Given the description of an element on the screen output the (x, y) to click on. 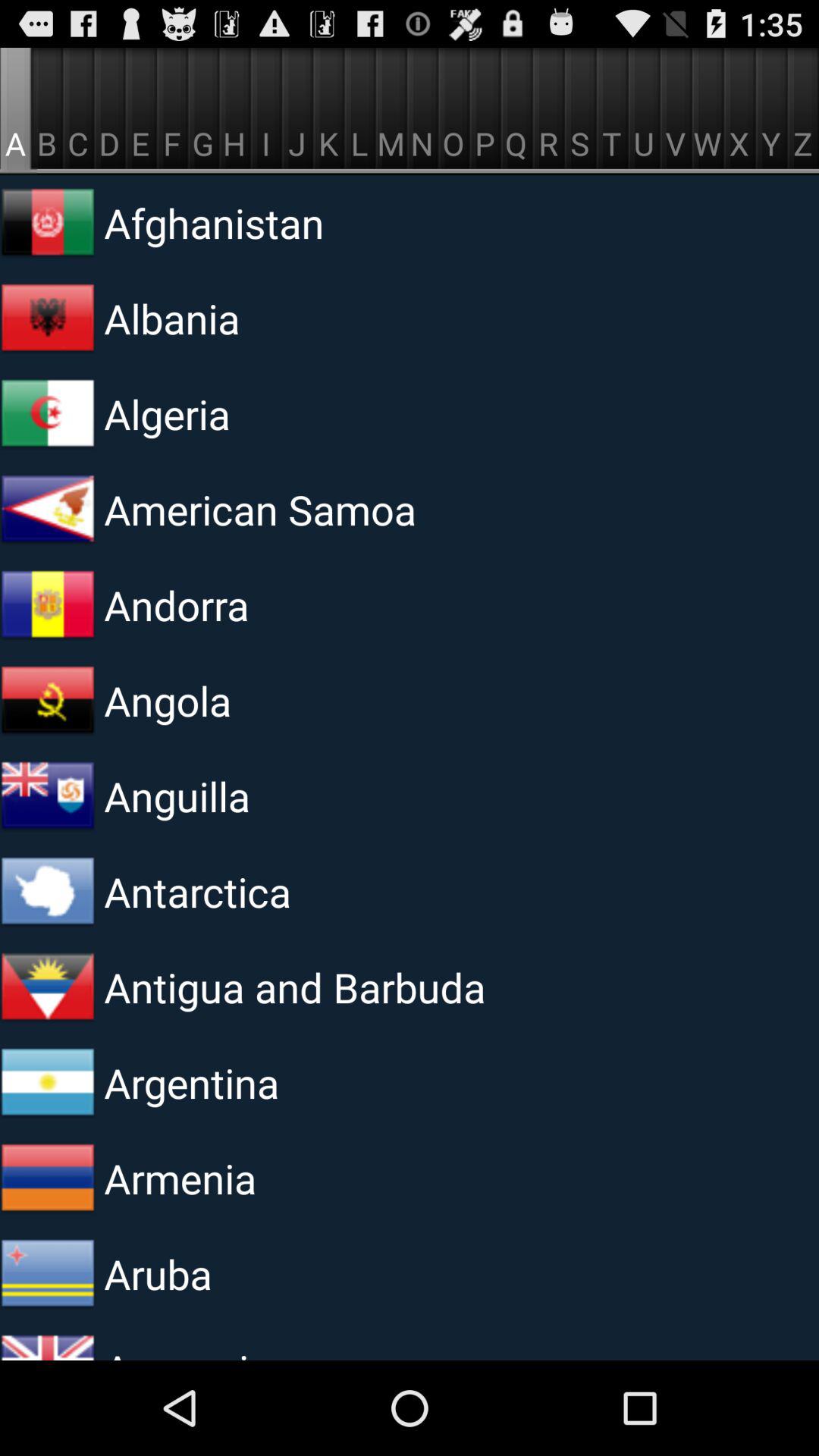
swipe to antarctica app (290, 891)
